Given the description of an element on the screen output the (x, y) to click on. 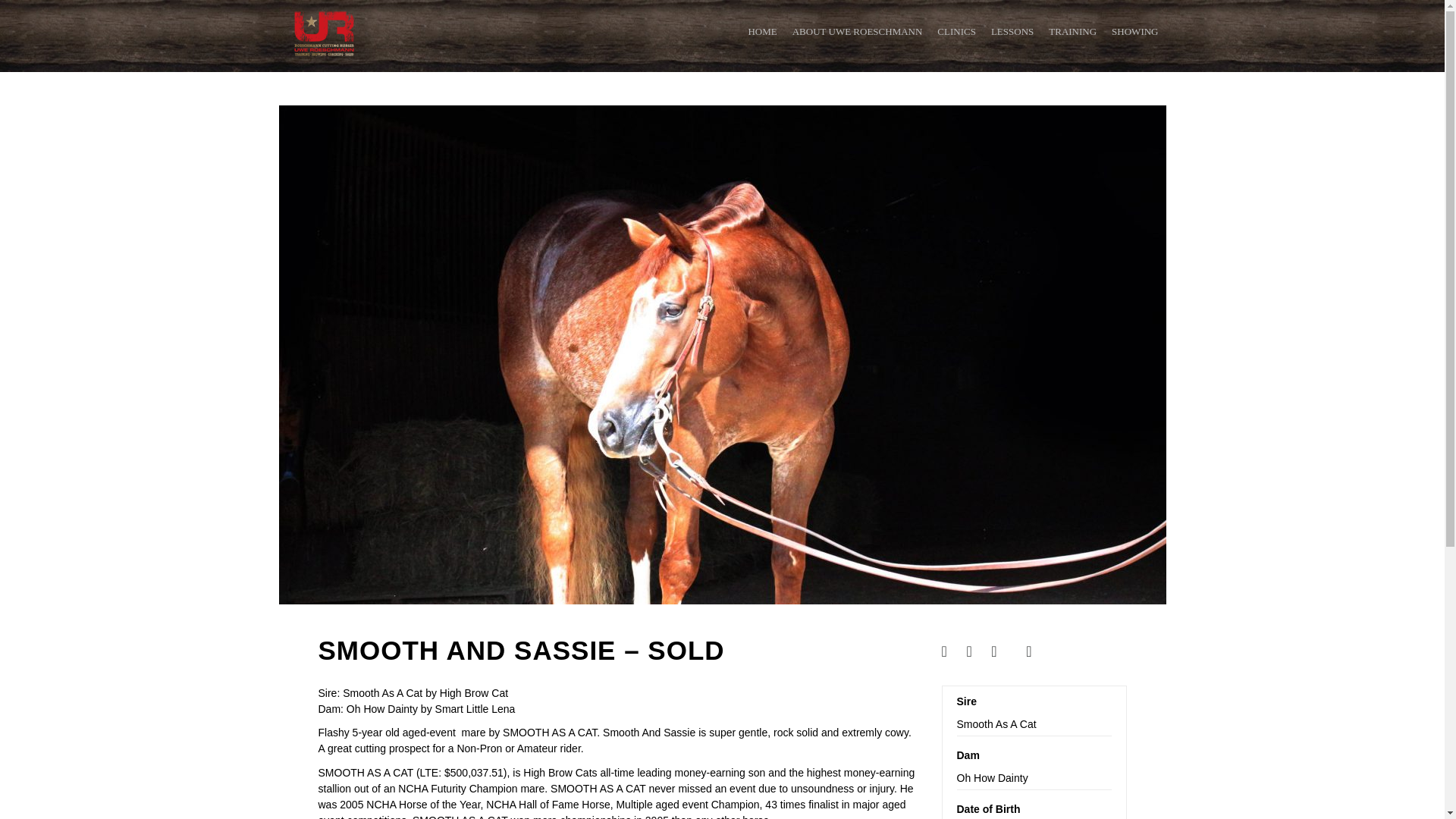
About Uwe Roeschmann (857, 31)
Lessons (1012, 31)
TRAINING (1072, 31)
Training (1072, 31)
ABOUT UWE ROESCHMANN (857, 31)
LESSONS (1012, 31)
Showing (1134, 31)
SHOWING (1134, 31)
